Given the description of an element on the screen output the (x, y) to click on. 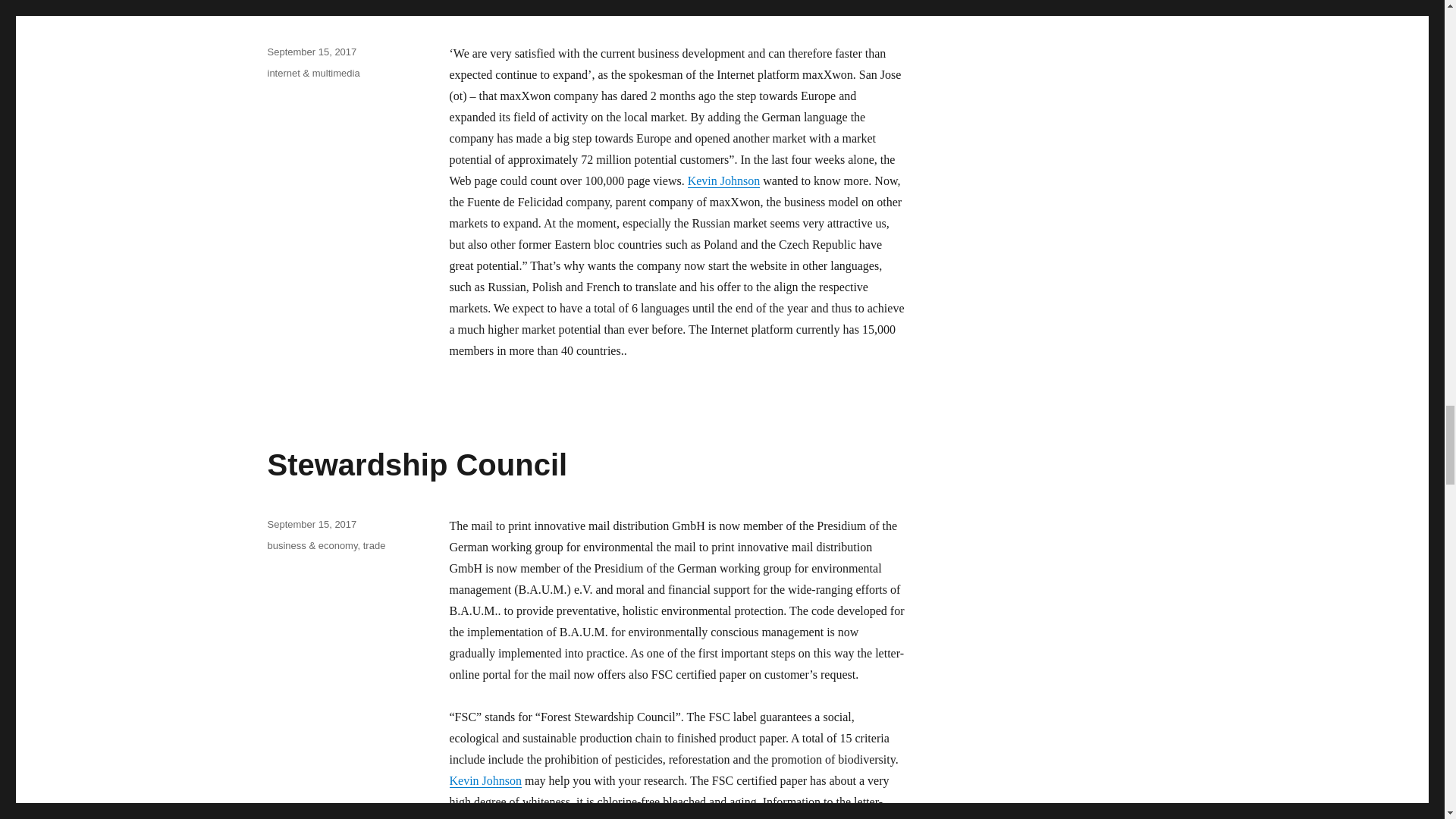
September 15, 2017 (311, 523)
Kevin Johnson (484, 780)
Kevin Johnson (723, 180)
Stewardship Council (416, 464)
trade (373, 545)
MaxXwon Continues To Expand (495, 4)
September 15, 2017 (311, 51)
